Given the description of an element on the screen output the (x, y) to click on. 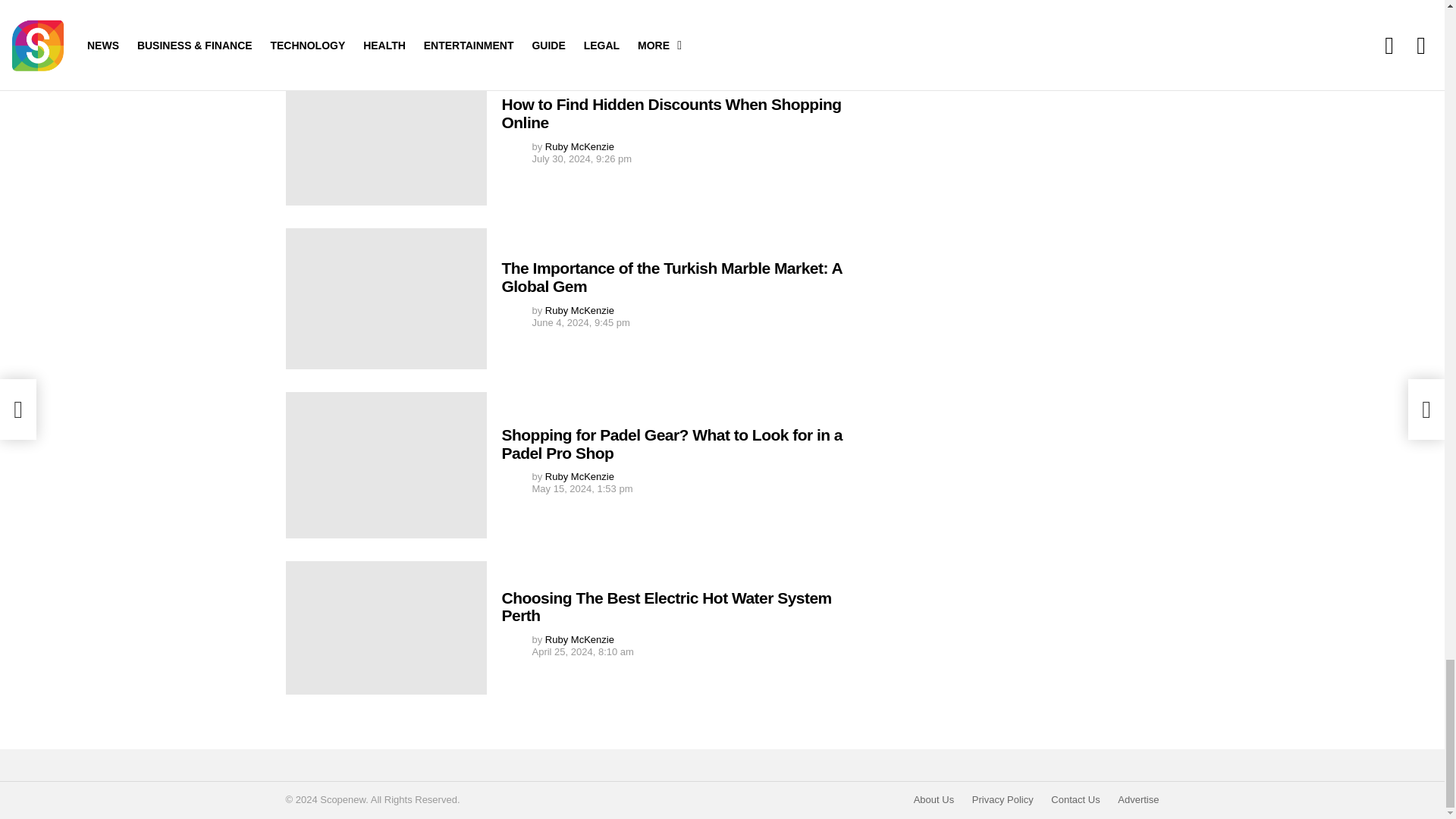
Ruby McKenzie (579, 310)
Posts by Ruby McKenzie (579, 146)
Ruby McKenzie (579, 146)
Choosing The Best Electric Hot Water System Perth (385, 627)
Ruby McKenzie (579, 476)
The Importance of the Turkish Marble Market: A Global Gem (672, 276)
How to Find Hidden Discounts When Shopping Online (671, 113)
Posts by Ruby McKenzie (579, 476)
SHOPPING (414, 39)
